Given the description of an element on the screen output the (x, y) to click on. 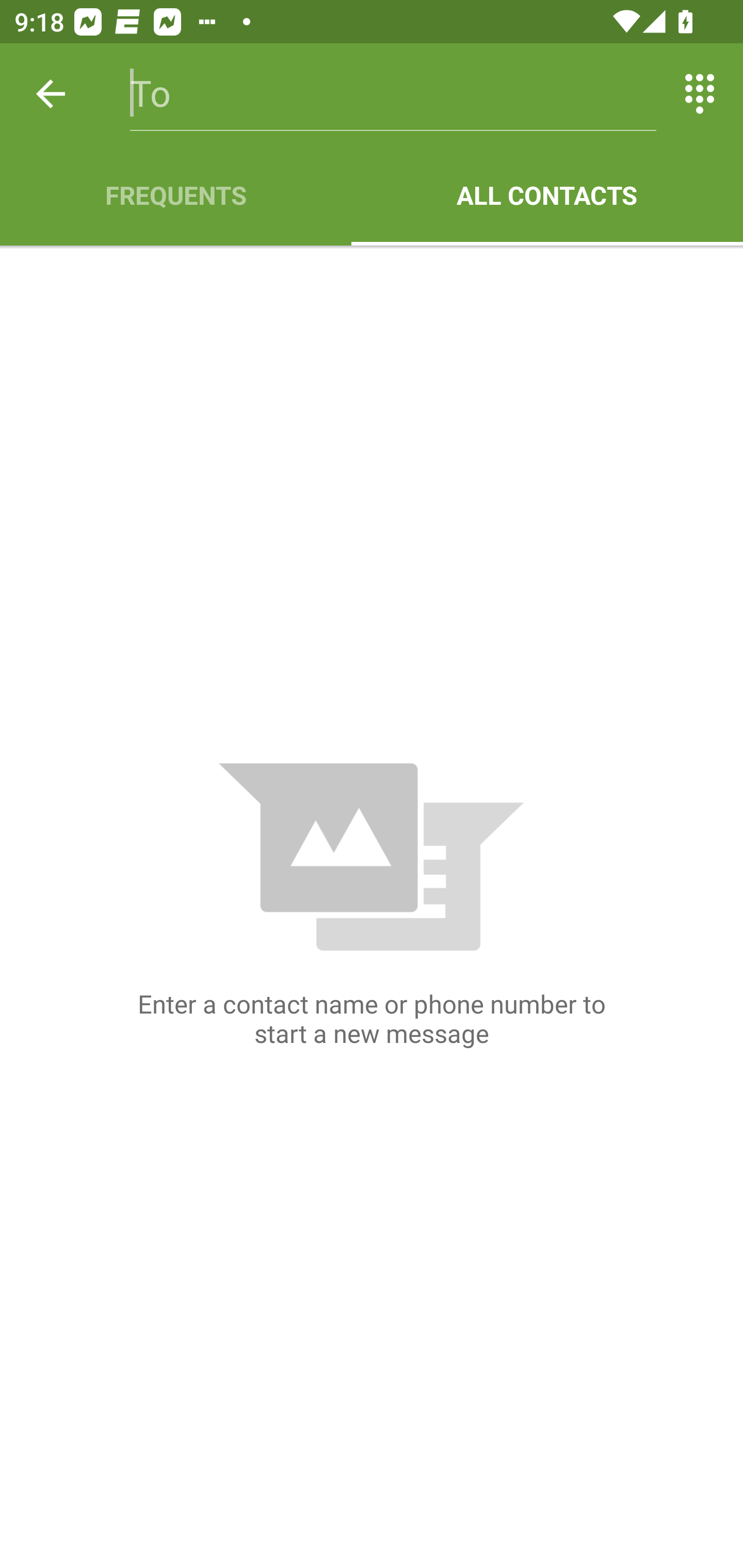
Back (50, 93)
Switch between entering text and numbers (699, 93)
To (393, 93)
FREQUENTS (175, 195)
ALL CONTACTS (547, 195)
